Given the description of an element on the screen output the (x, y) to click on. 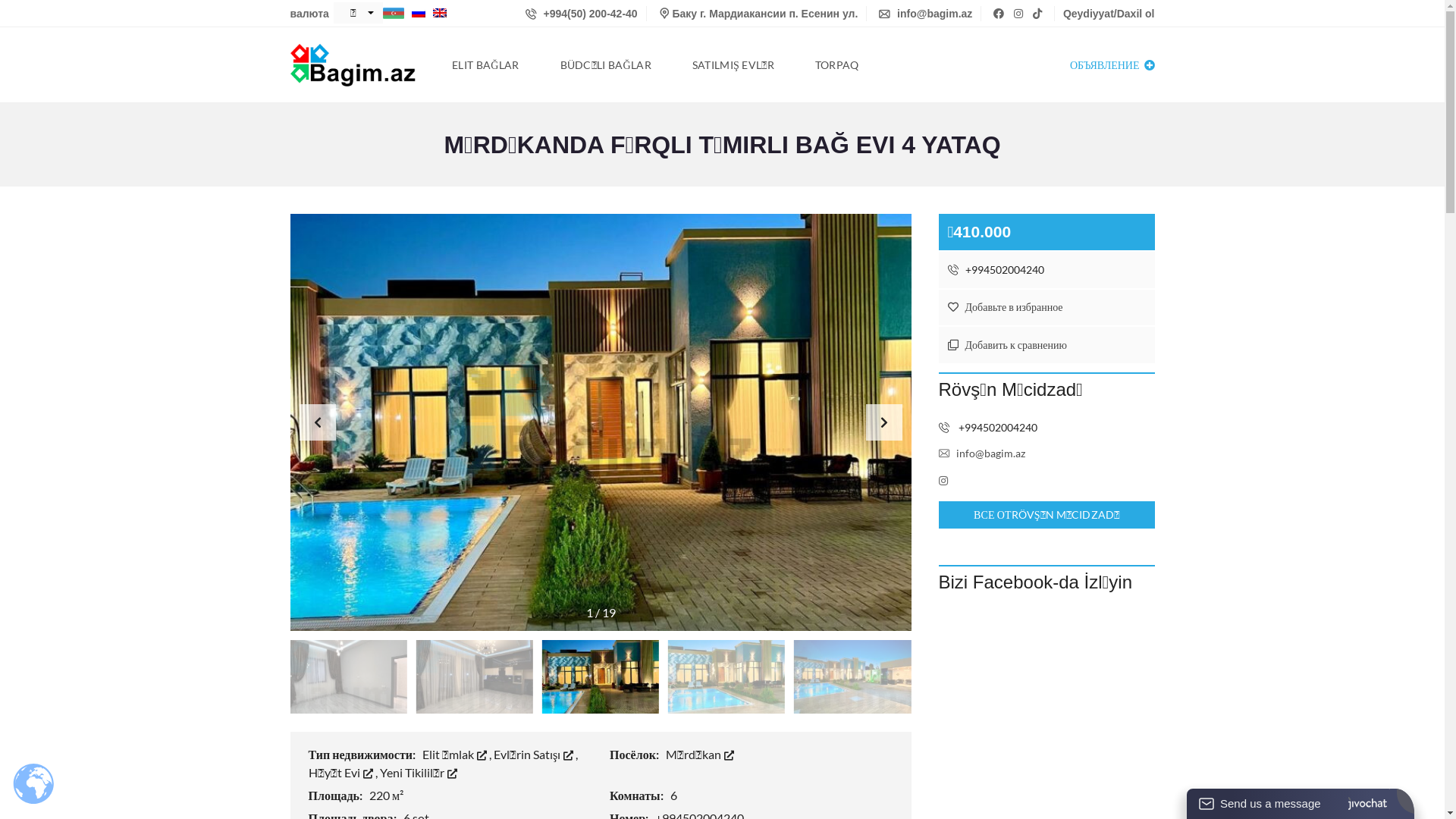
+994502004240 Element type: text (1046, 269)
+994502004240 Element type: text (987, 426)
Bagim.Az Element type: hover (352, 65)
info@bagim.az Element type: text (925, 13)
TORPAQ Element type: text (837, 65)
info@bagim.az Element type: text (981, 452)
Qeydiyyat/Daxil ol Element type: text (1108, 13)
+994(50) 200-42-40 Element type: text (581, 13)
